Given the description of an element on the screen output the (x, y) to click on. 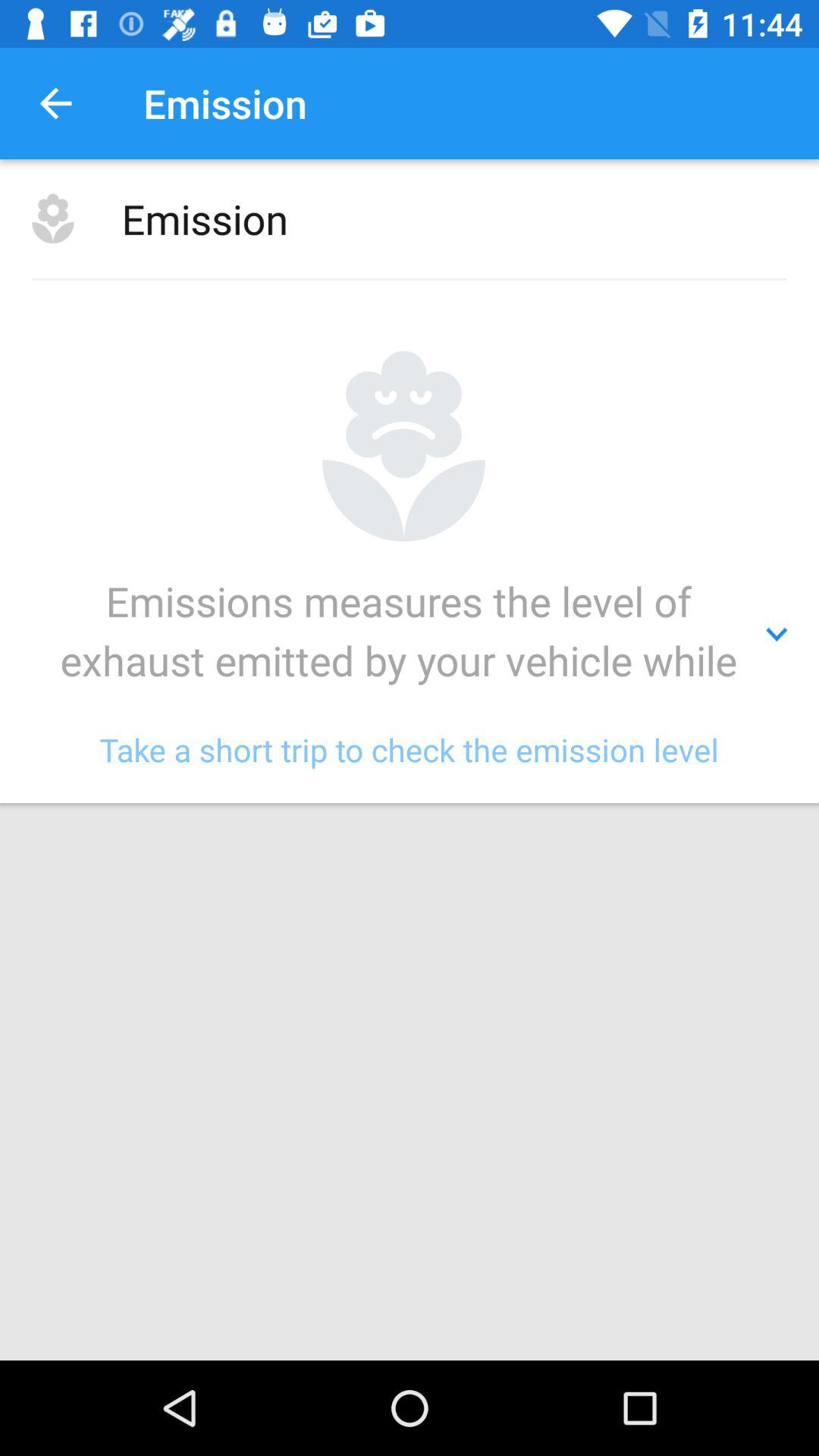
swipe until the emissions measures the item (409, 634)
